Given the description of an element on the screen output the (x, y) to click on. 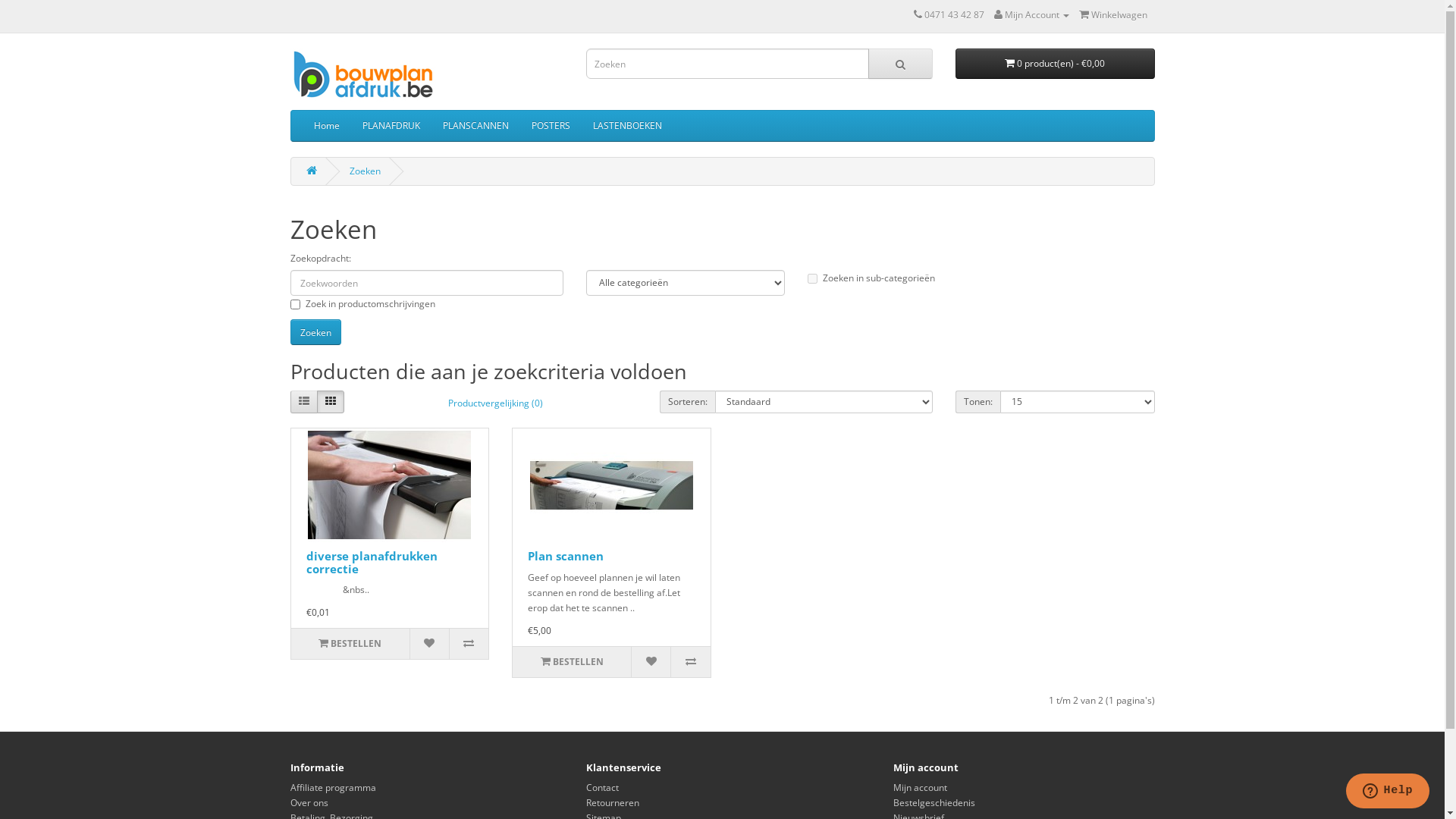
Home Element type: text (325, 125)
Over ons Element type: text (308, 802)
POSTERS Element type: text (550, 125)
Productvergelijking (0) Element type: text (495, 403)
BESTELLEN Element type: text (571, 661)
Retourneren Element type: text (611, 802)
Affiliate programma Element type: text (332, 787)
BouwplanAfdruk Element type: hover (368, 75)
Opens a widget where you can chat to one of our agents Element type: hover (1387, 792)
Contact Element type: text (601, 787)
diverse planafdrukken correctie Element type: text (371, 562)
Mijn Account Element type: text (1030, 14)
BESTELLEN Element type: text (350, 643)
Zoeken Element type: text (363, 170)
Bestelgeschiedenis Element type: text (934, 802)
PLANSCANNEN Element type: text (474, 125)
LASTENBOEKEN Element type: text (626, 125)
Mijn account Element type: text (920, 787)
Winkelwagen Element type: text (1112, 14)
Plan scannen Element type: hover (611, 485)
diverse planafdrukken correctie Element type: hover (388, 485)
PLANAFDRUK Element type: text (390, 125)
Plan scannen Element type: text (565, 555)
